Given the description of an element on the screen output the (x, y) to click on. 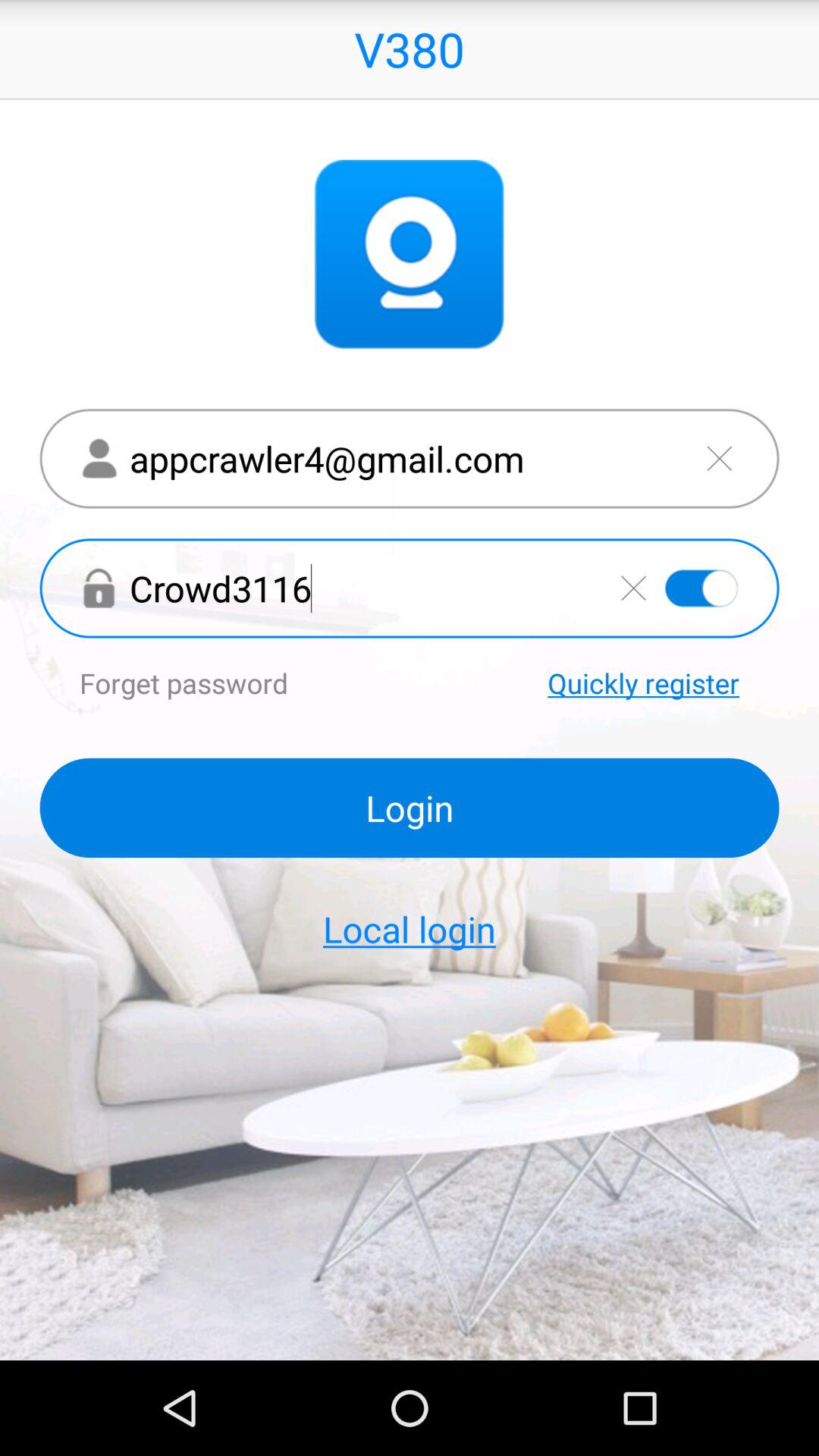
show the password (701, 587)
